Given the description of an element on the screen output the (x, y) to click on. 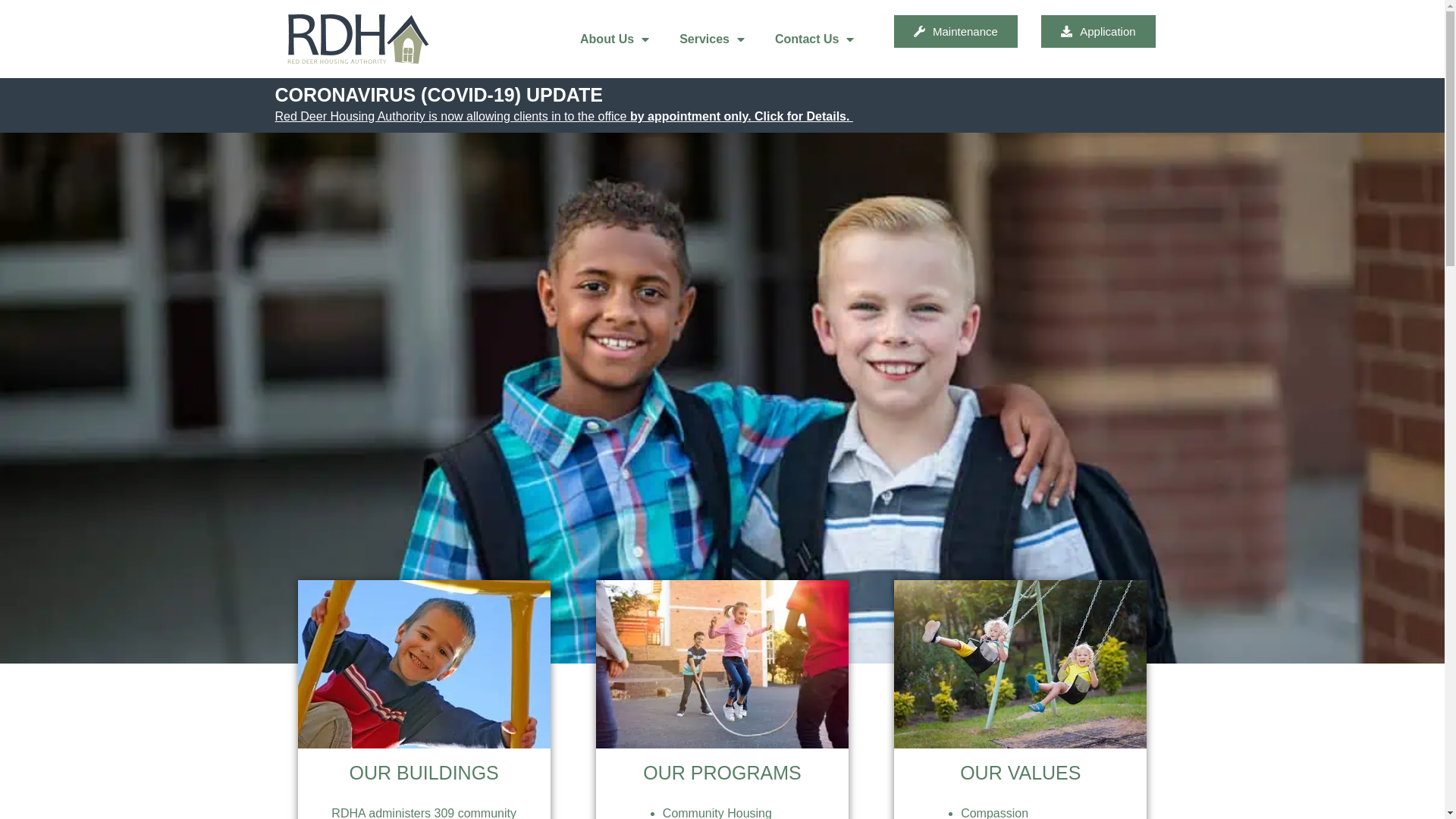
Maintenance Element type: text (955, 31)
Application Element type: text (1097, 31)
Services Element type: text (711, 38)
About Us Element type: text (614, 38)
Contact Us Element type: text (814, 38)
RDHA logo Element type: hover (357, 38)
